Given the description of an element on the screen output the (x, y) to click on. 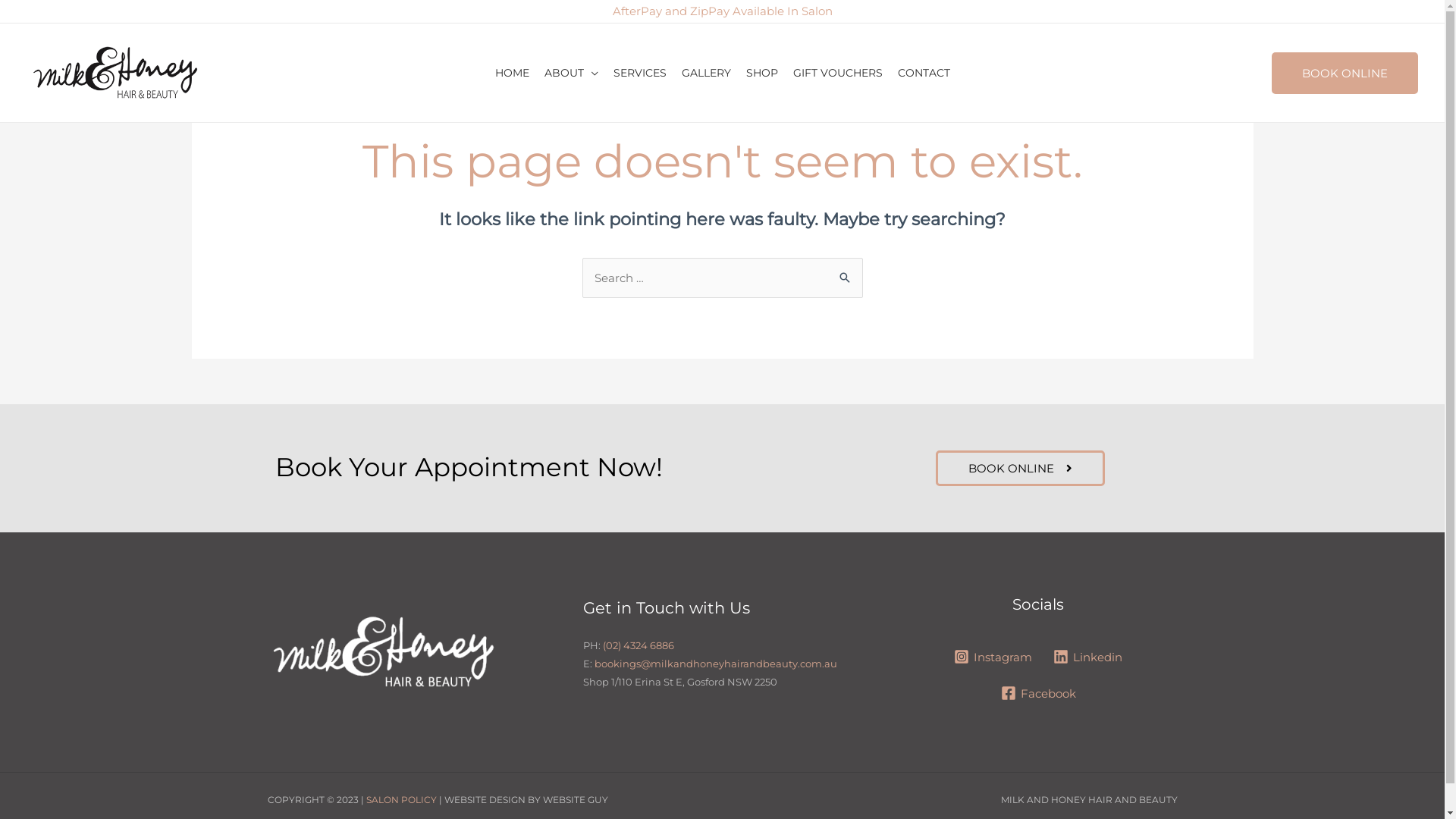
SERVICES Element type: text (639, 72)
BOOK ONLINE Element type: text (1019, 468)
HOME Element type: text (511, 72)
Search Element type: text (845, 272)
BOOK ONLINE Element type: text (1344, 72)
GIFT VOUCHERS Element type: text (837, 72)
Instagram Element type: text (992, 656)
GALLERY Element type: text (705, 72)
Linkedin Element type: text (1087, 656)
ABOUT Element type: text (570, 72)
(02) 4324 6886 Element type: text (638, 645)
Facebook Element type: text (1038, 692)
bookings@milkandhoneyhairandbeauty.com.au Element type: text (715, 663)
CONTACT Element type: text (923, 72)
SALON POLICY Element type: text (400, 799)
SHOP Element type: text (761, 72)
